Given the description of an element on the screen output the (x, y) to click on. 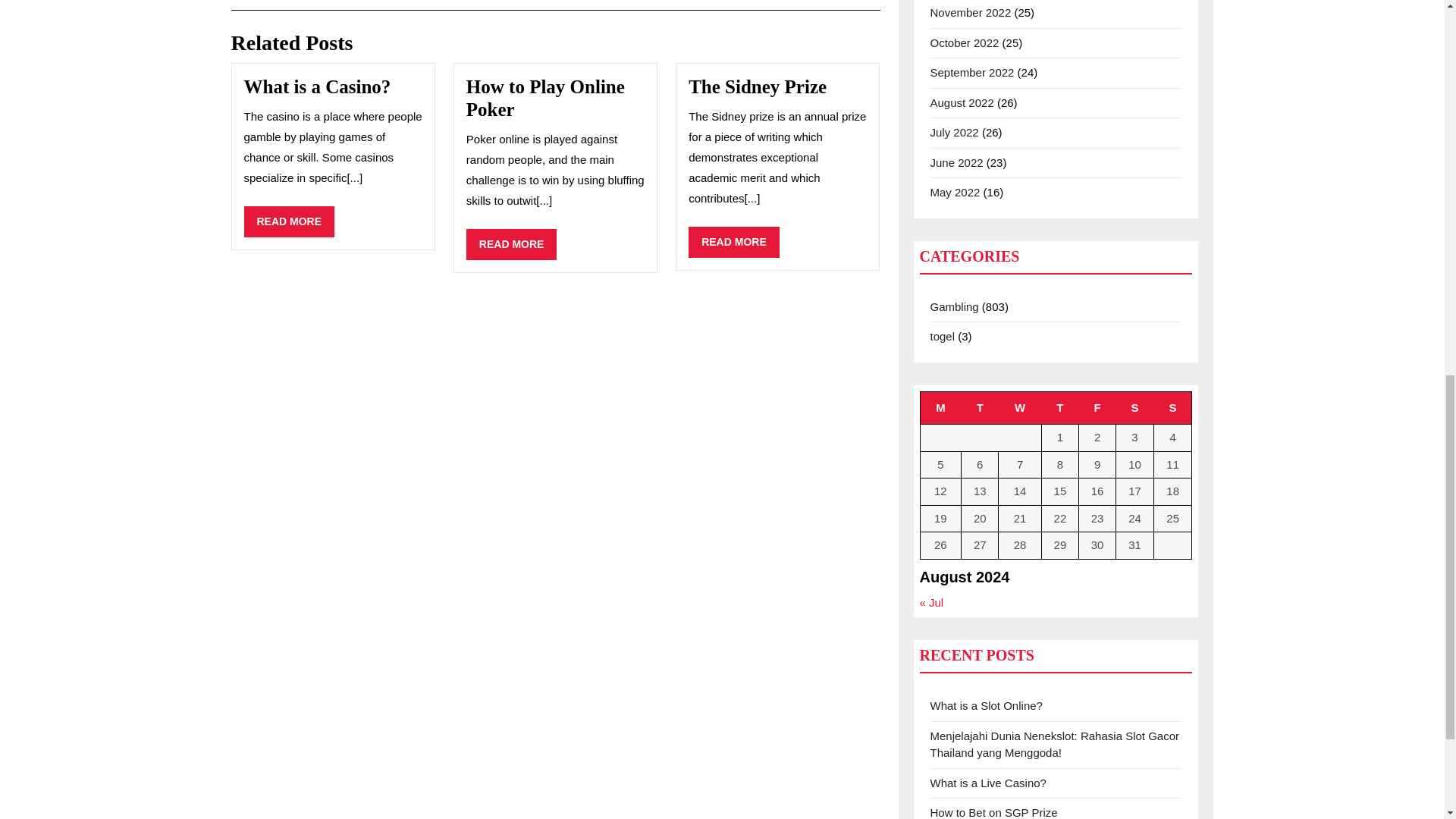
Tuesday (979, 408)
How to Play Online Poker (544, 97)
The Sidney Prize (757, 86)
Wednesday (1020, 408)
Friday (733, 241)
Monday (1097, 408)
What is a Casino? (511, 244)
Thursday (940, 408)
